Given the description of an element on the screen output the (x, y) to click on. 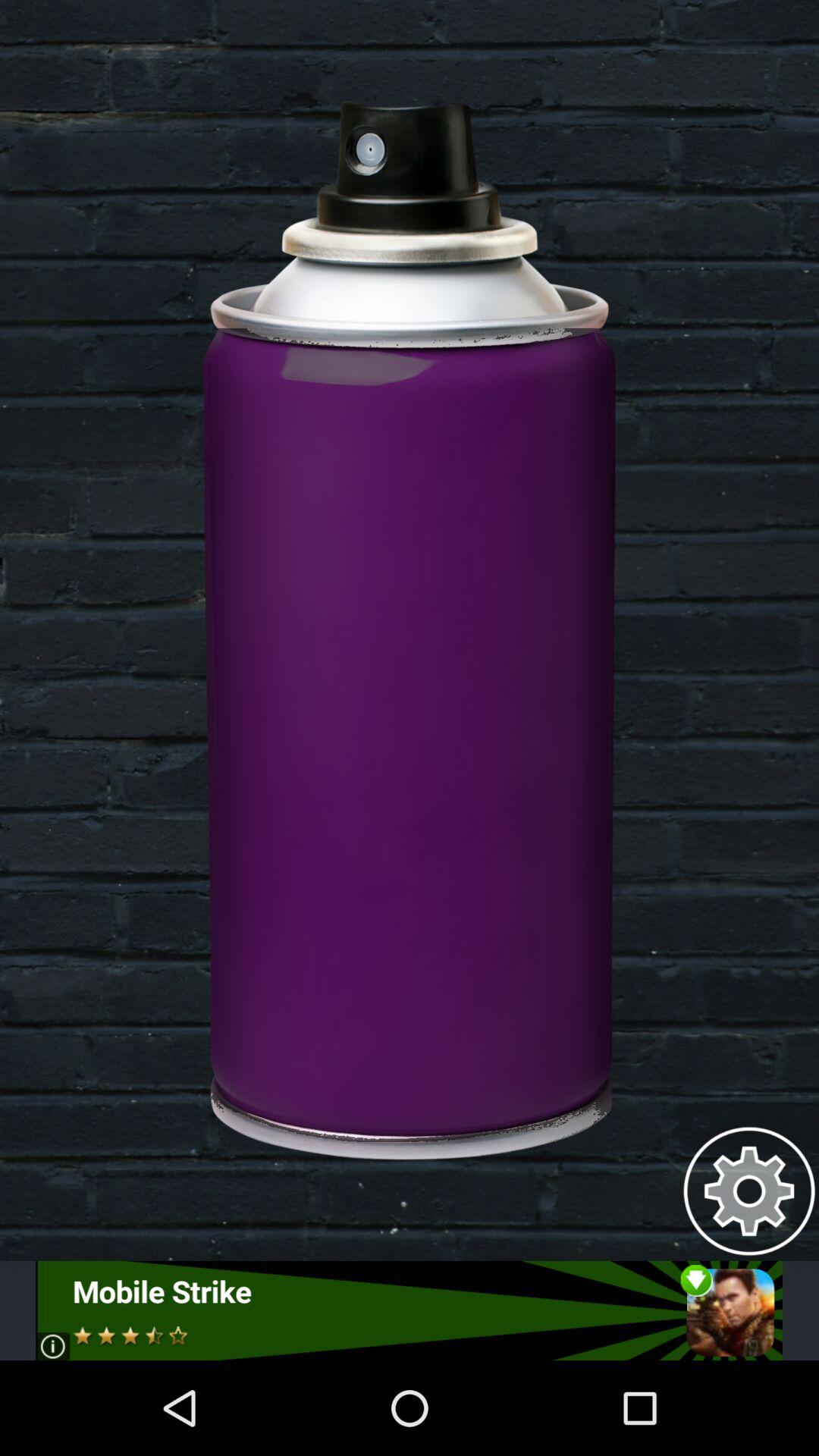
banner advertisement for mobile strike game (408, 1310)
